Given the description of an element on the screen output the (x, y) to click on. 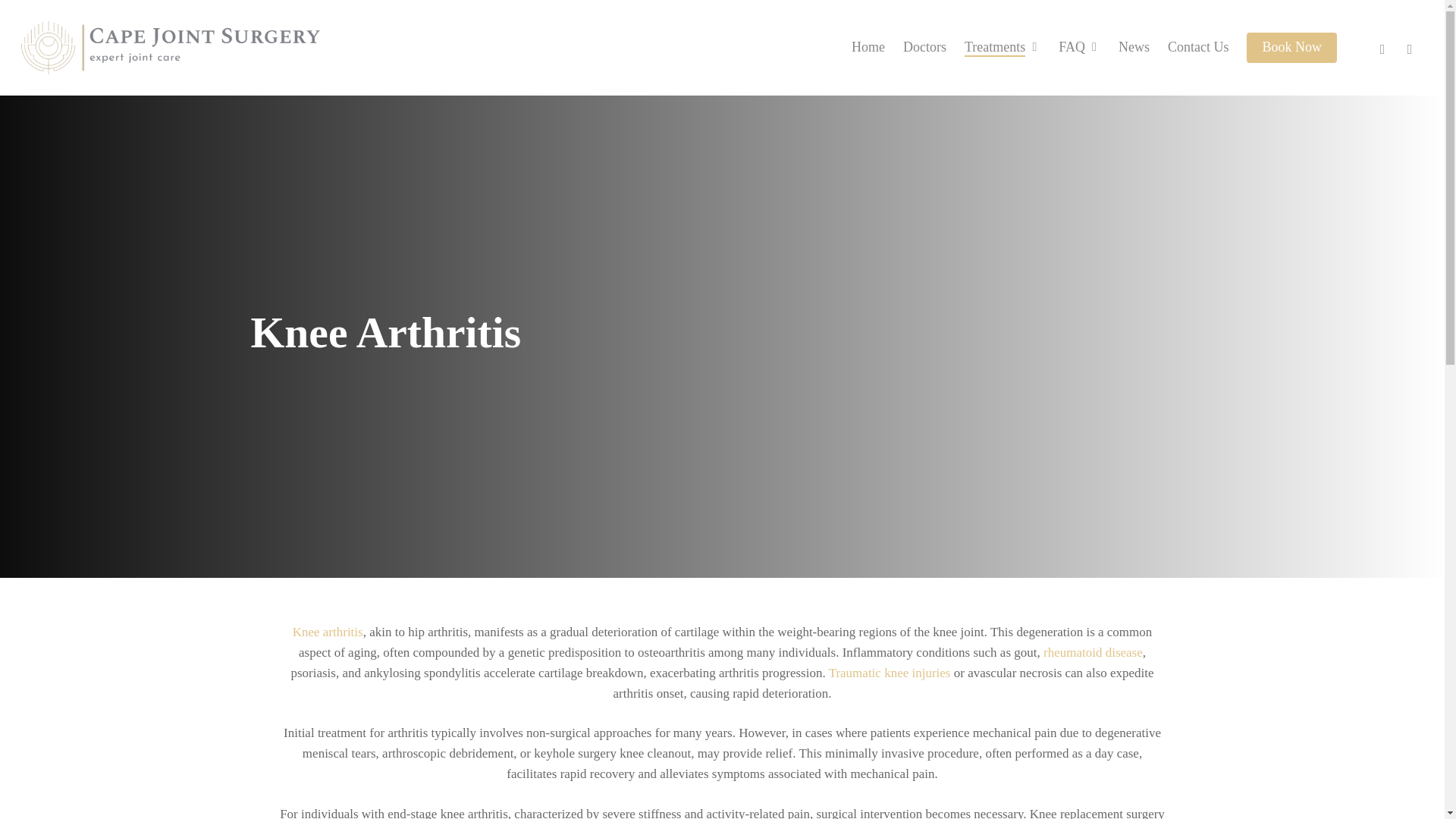
Doctors (924, 46)
email (1409, 47)
FAQ (1079, 46)
Treatments (1002, 46)
phone (1382, 47)
News (1134, 46)
Contact Us (1197, 46)
Home (868, 46)
Book Now (1291, 46)
